Given the description of an element on the screen output the (x, y) to click on. 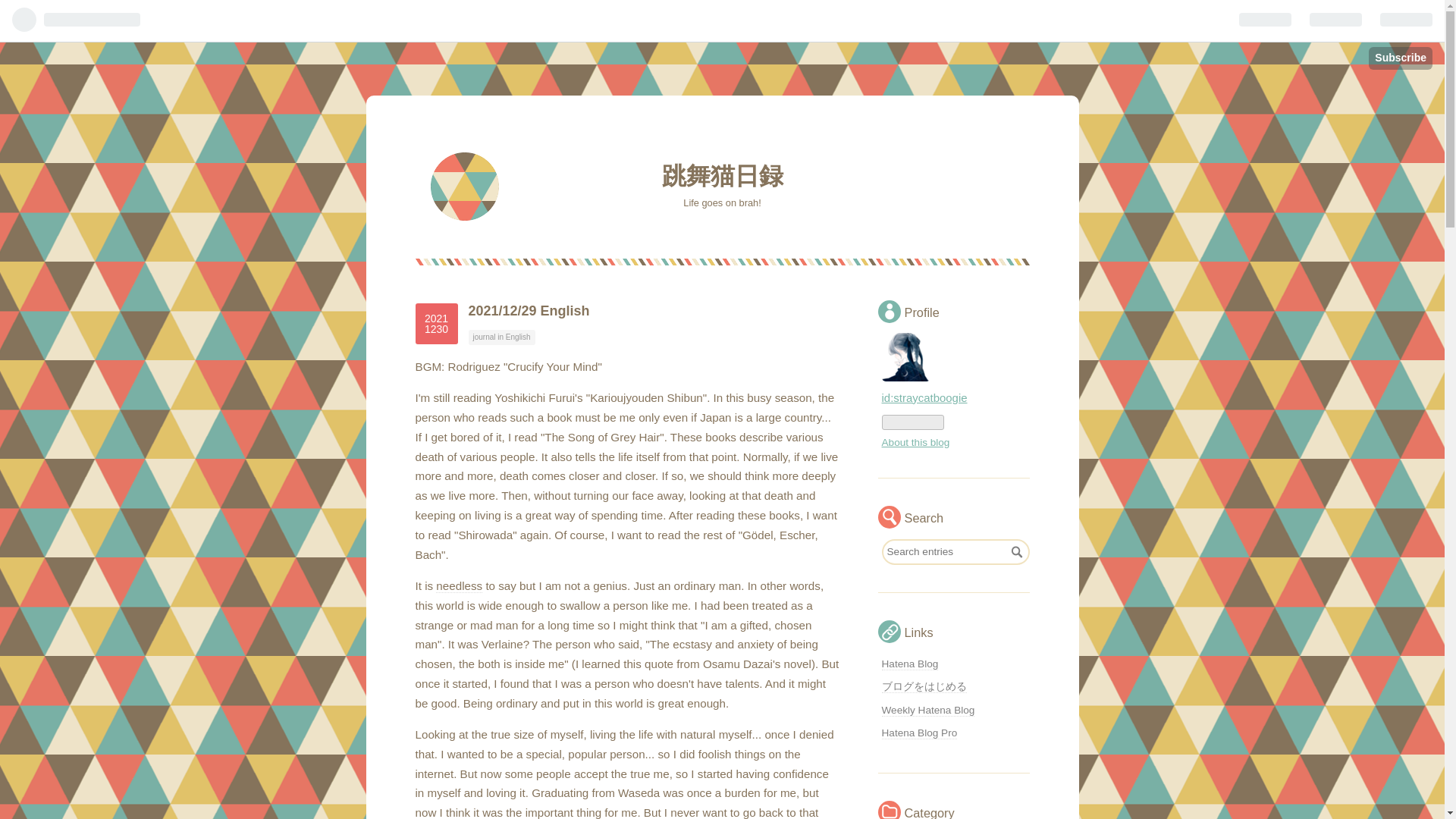
About this blog (914, 441)
Subscribe (1400, 57)
journal in English (436, 323)
Hatena Blog (501, 337)
Search (908, 664)
Search (1016, 551)
Weekly Hatena Blog (1016, 551)
needless (927, 710)
id:straycatboogie (458, 585)
